Given the description of an element on the screen output the (x, y) to click on. 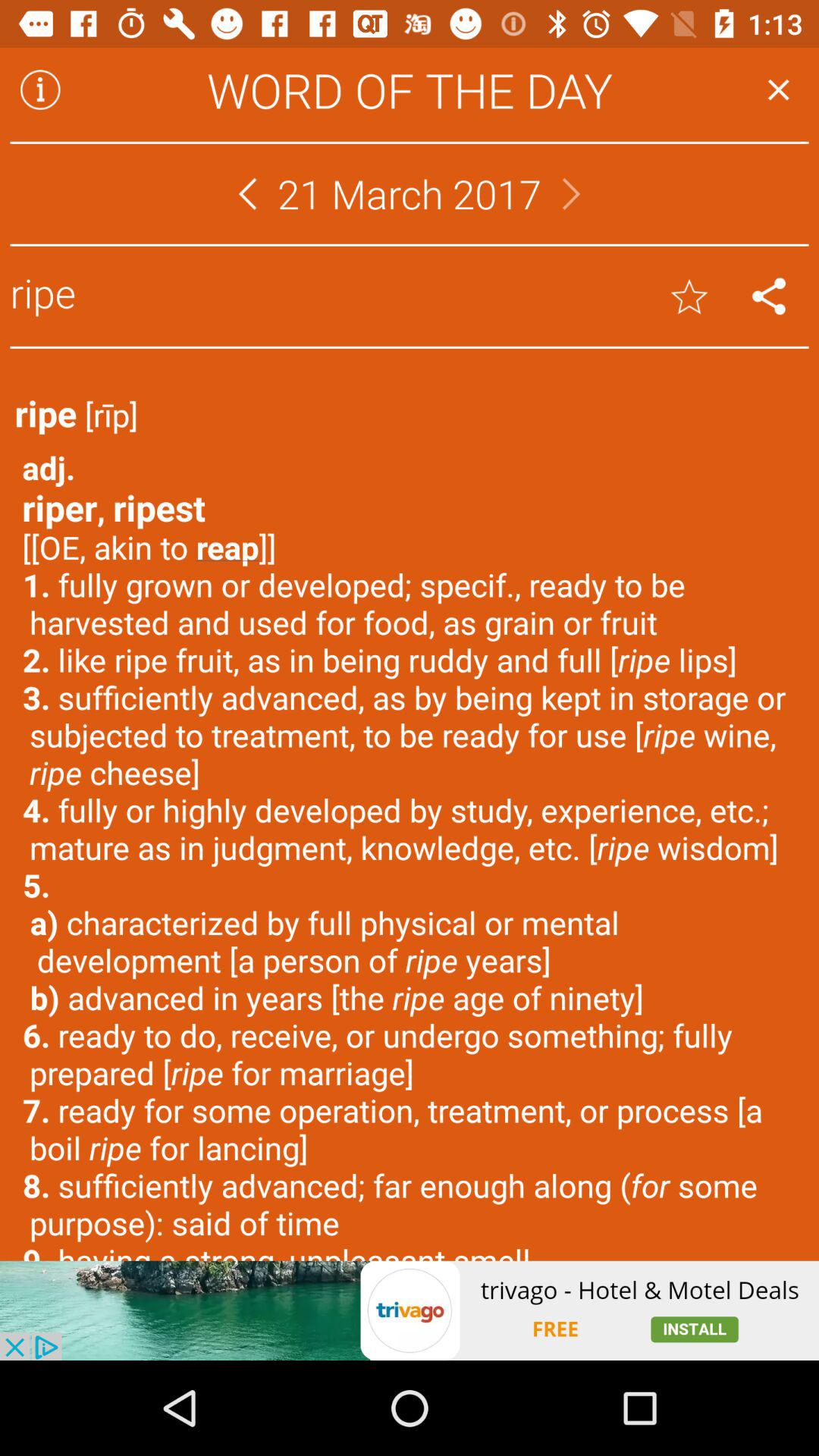
advertisement (409, 1310)
